Given the description of an element on the screen output the (x, y) to click on. 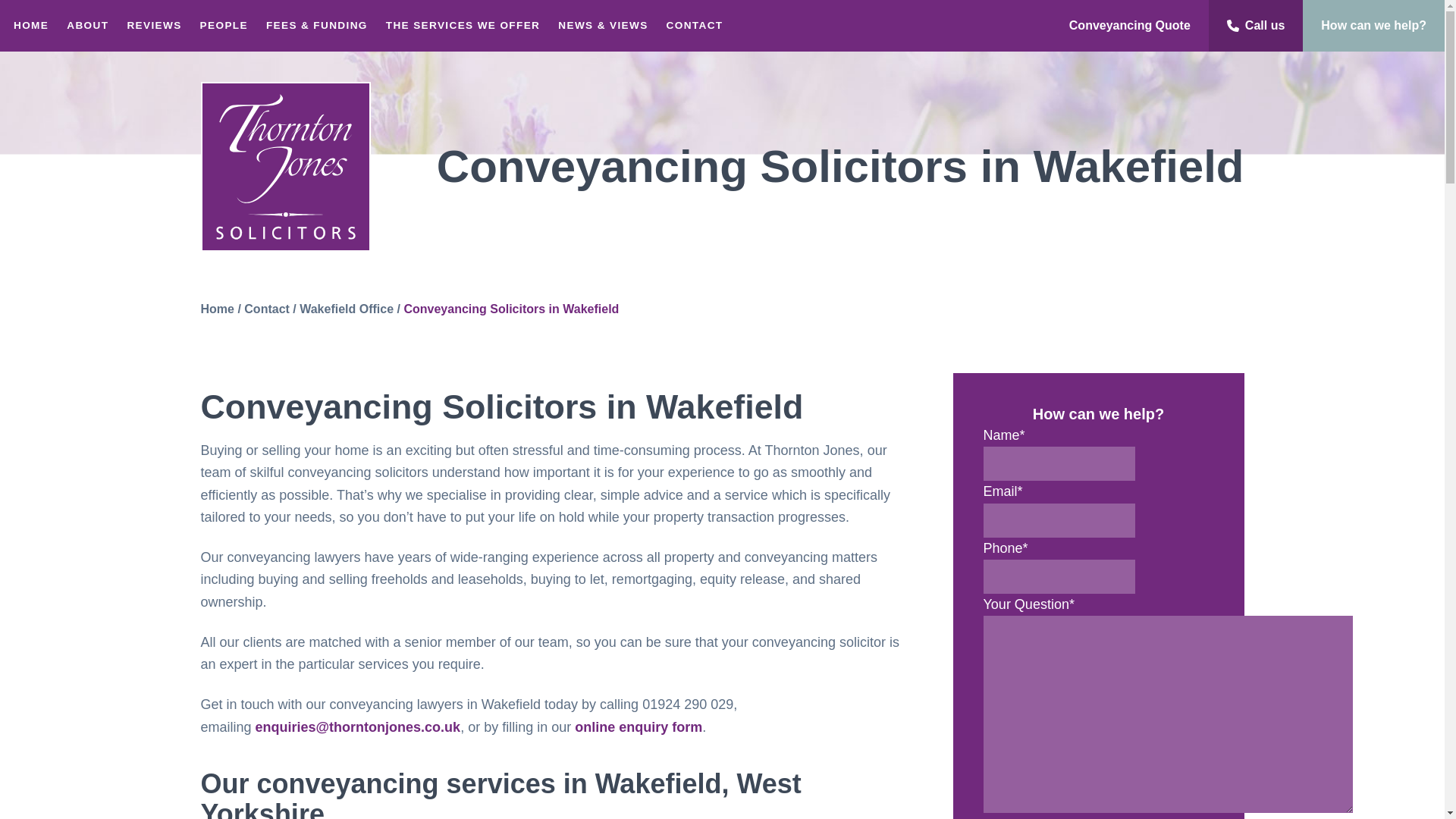
HOME (31, 25)
PEOPLE (223, 25)
REVIEWS (153, 25)
THE SERVICES WE OFFER (463, 25)
ABOUT (87, 25)
